Given the description of an element on the screen output the (x, y) to click on. 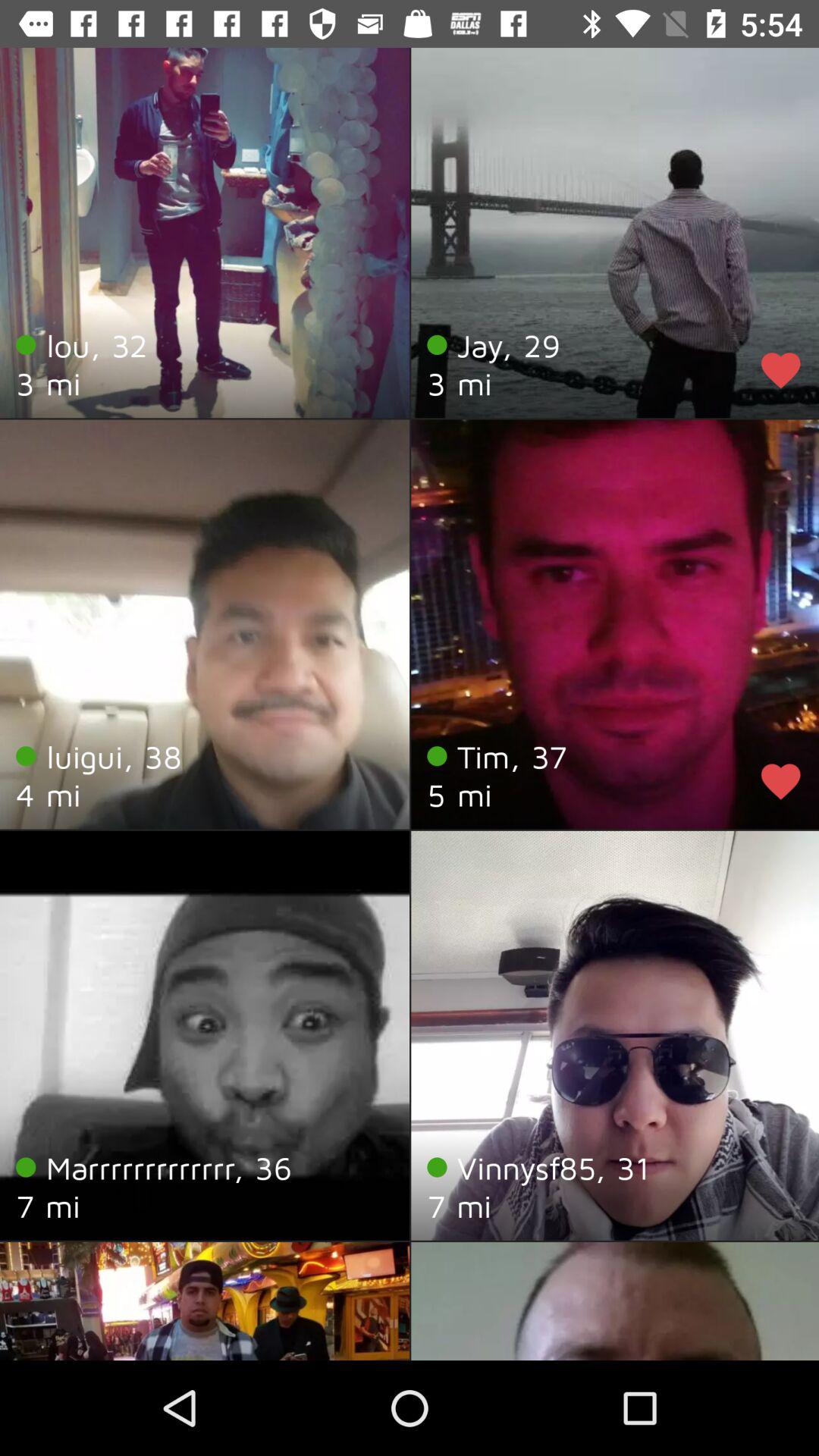
select the image of vinnysf85 31 7mi (615, 1035)
click on the profile image of tim 37 (615, 624)
